Given the description of an element on the screen output the (x, y) to click on. 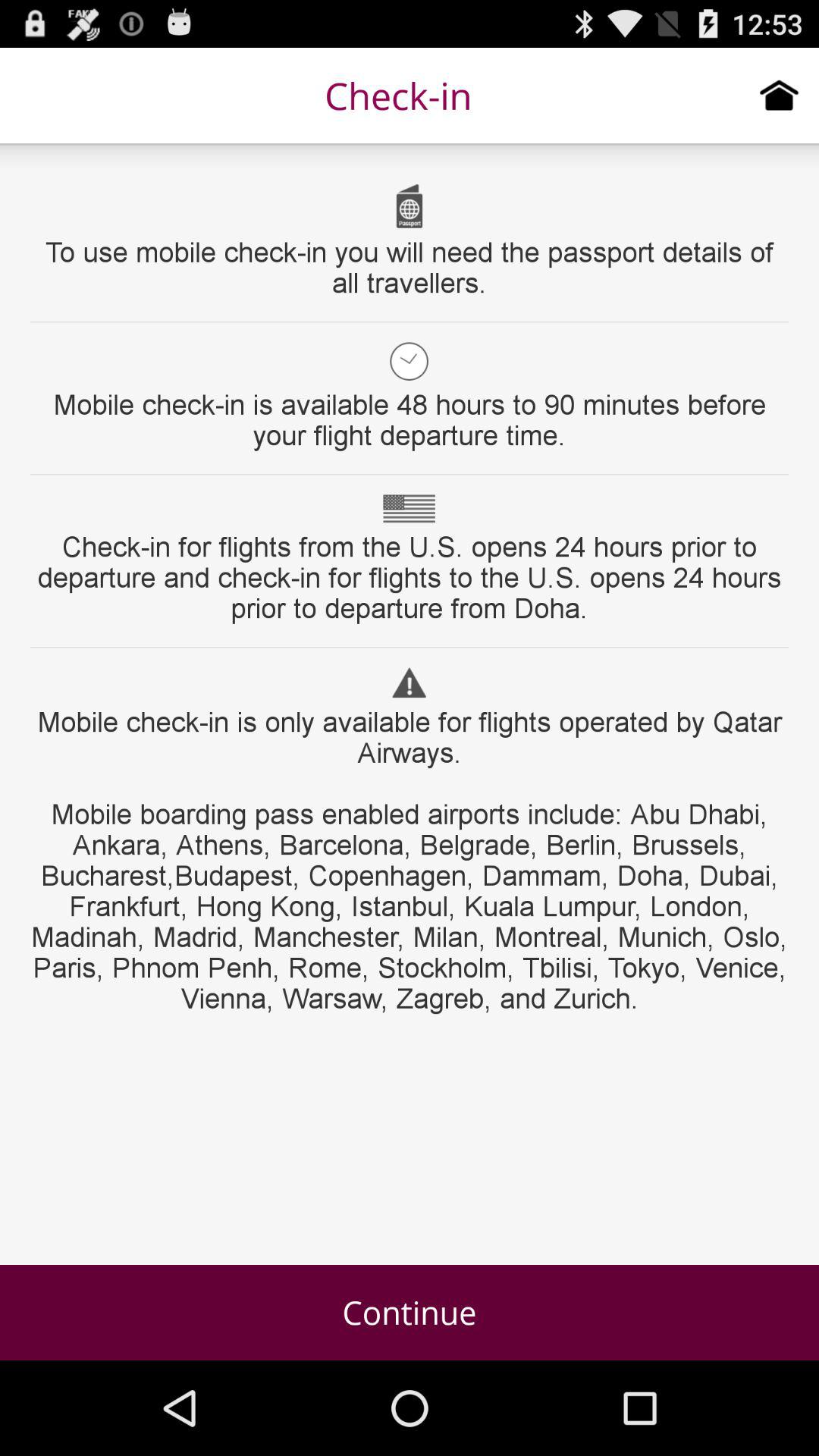
home menu (779, 95)
